Given the description of an element on the screen output the (x, y) to click on. 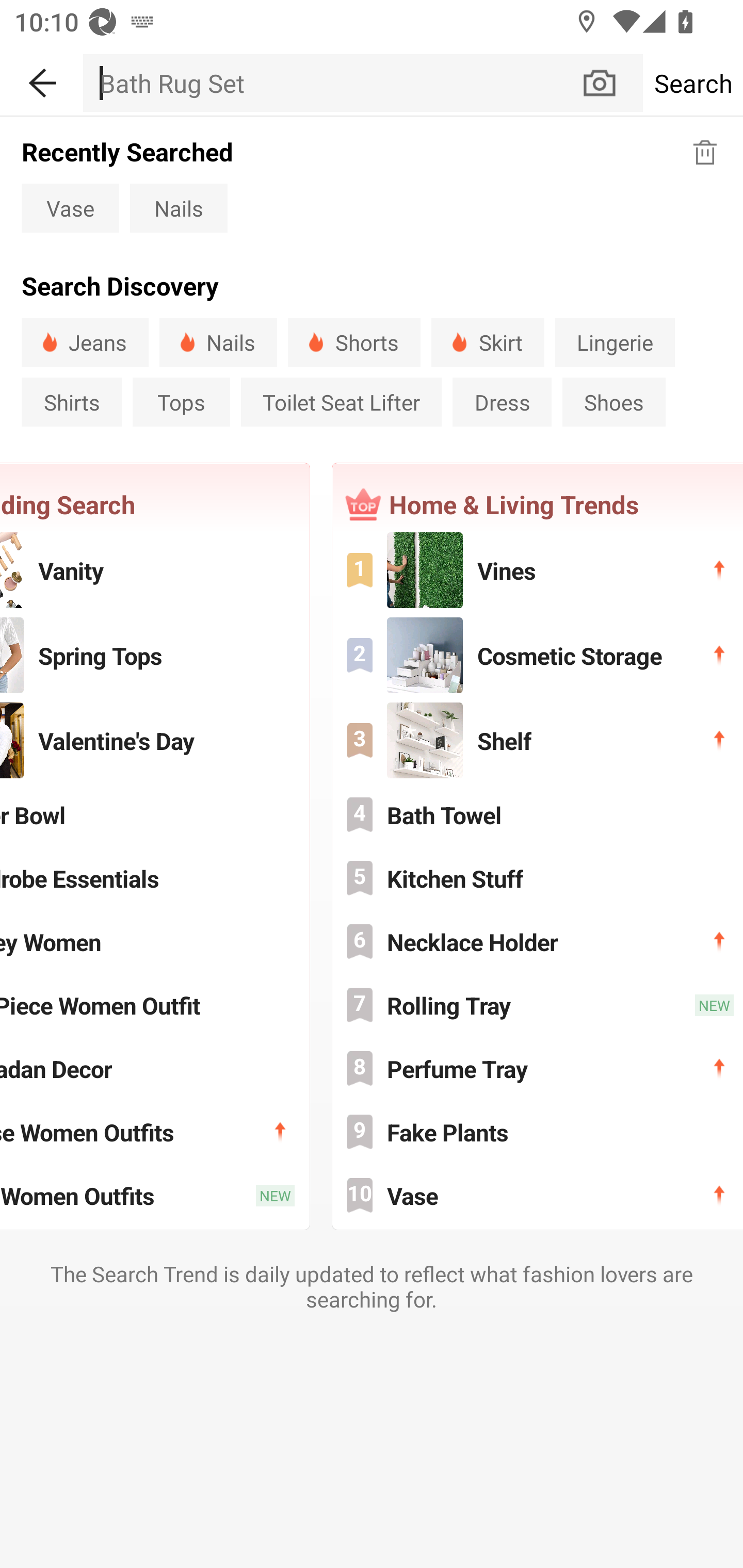
BACK (41, 79)
Bath Rug Set (331, 82)
Search (692, 82)
Recently Searched Vase Vase Nails Nails (371, 183)
Vase (69, 207)
Nails (178, 207)
Jeans (84, 342)
Nails (218, 342)
Shorts (354, 342)
Skirt (487, 342)
Lingerie (614, 342)
Shirts (71, 401)
Tops (181, 401)
Toilet Seat Lifter (340, 401)
Dress (501, 401)
Shoes (613, 401)
Vanity (154, 569)
Vines 1 Vines (537, 569)
Spring Tops (154, 655)
Cosmetic Storage 2 Cosmetic Storage (537, 655)
Valentine's Day (154, 739)
Shelf 3 Shelf (537, 739)
Super Bowl (154, 814)
Bath Towel 4 Bath Towel (537, 814)
Wardrobe Essentials (154, 877)
Kitchen Stuff 5 Kitchen Stuff (537, 877)
Jersey Women (154, 941)
Necklace Holder 6 Necklace Holder (537, 941)
One Piece Women Outfit (154, 1004)
Rolling Tray 7 Rolling Tray NEW (537, 1004)
Ramadan Decor (154, 1068)
Perfume Tray 8 Perfume Tray (537, 1068)
Cruise Women Outfits (154, 1131)
Fake Plants 9 Fake Plants (537, 1131)
Club Women Outfits Club Women Outfits NEW (154, 1195)
Vase 10 Vase (537, 1195)
